Given the description of an element on the screen output the (x, y) to click on. 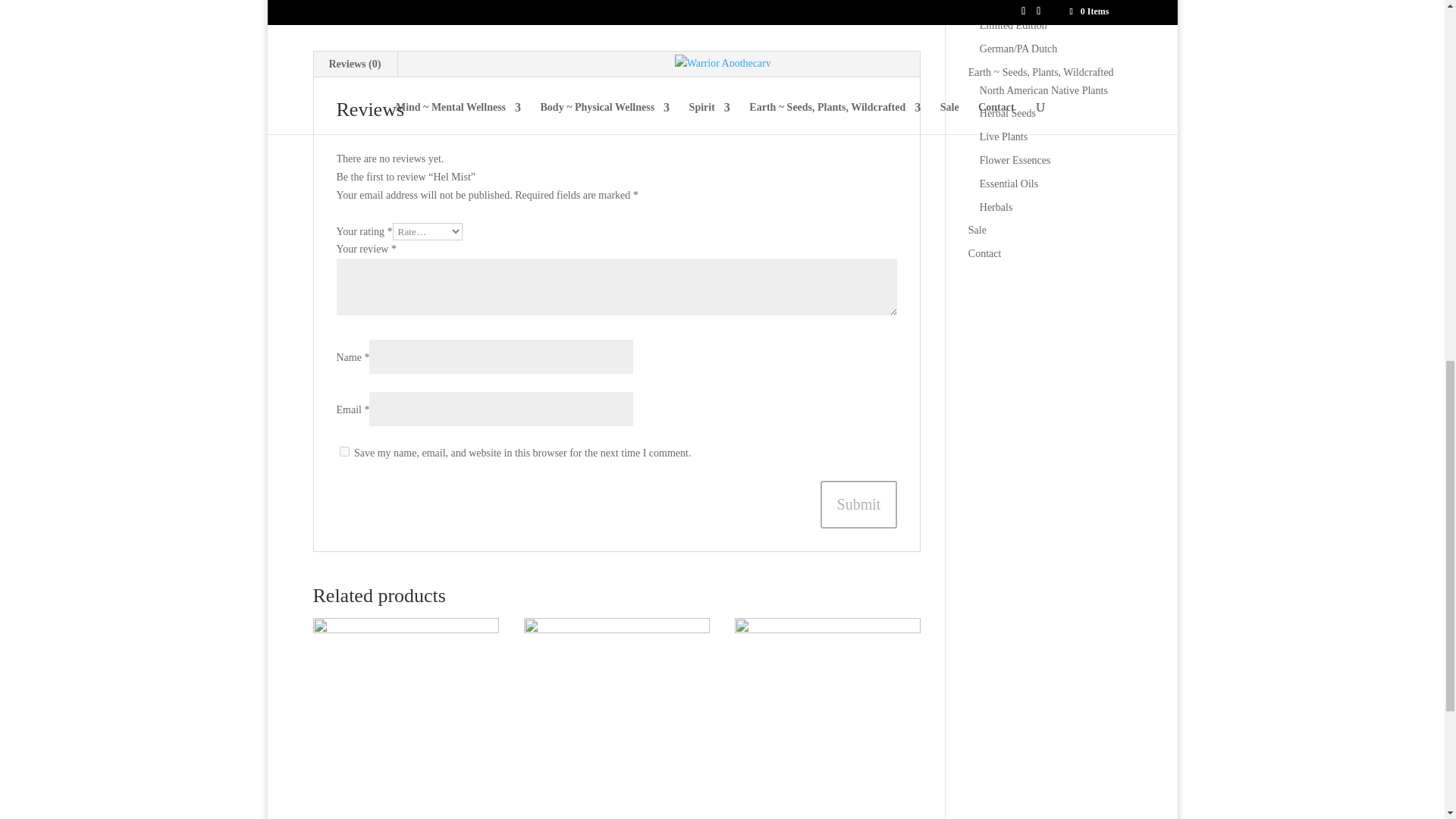
Submit (859, 504)
Grounding (769, 1)
Ritual (810, 1)
yes (344, 451)
